Given the description of an element on the screen output the (x, y) to click on. 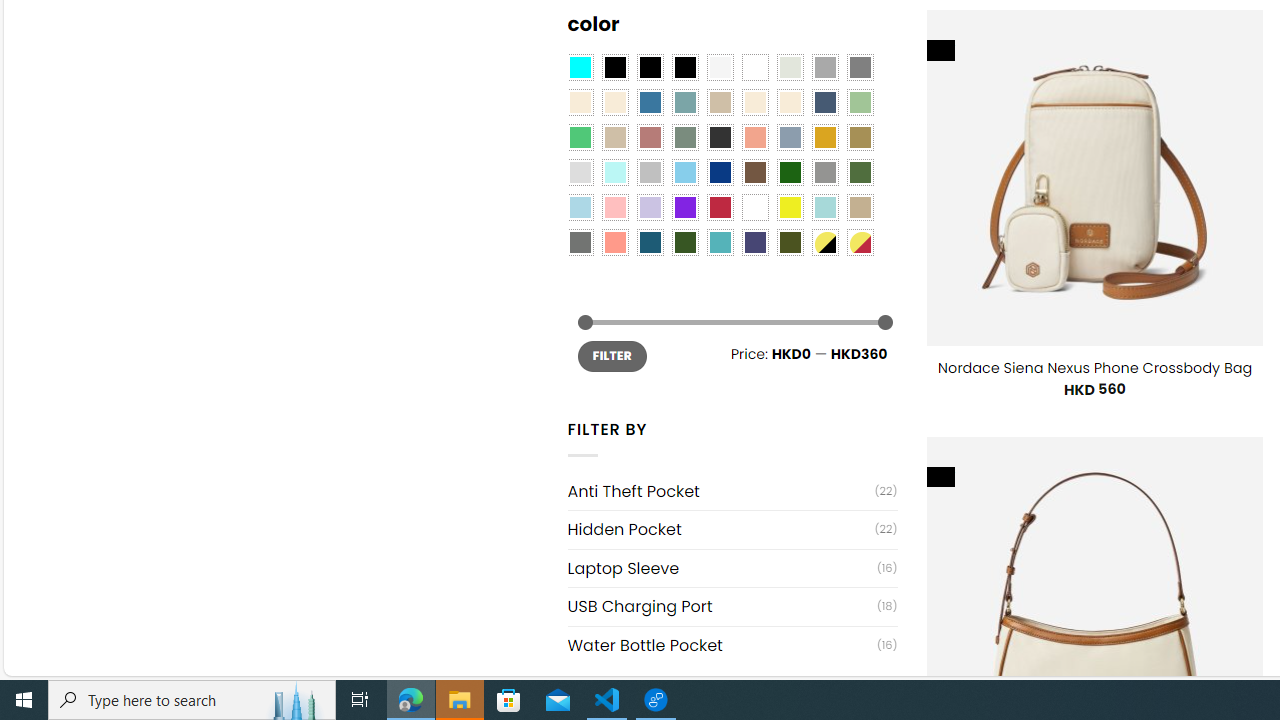
Clear (755, 67)
Yellow-Black (824, 242)
Sage (684, 138)
Nordace Siena Nexus Phone Crossbody Bag (1094, 368)
Capri Blue (650, 242)
Yellow-Red (859, 242)
Mint (614, 172)
Dark Green (789, 172)
Anti Theft Pocket (721, 491)
White (755, 208)
Black (650, 67)
Ash Gray (789, 67)
Light Green (859, 102)
Cream (789, 102)
